Given the description of an element on the screen output the (x, y) to click on. 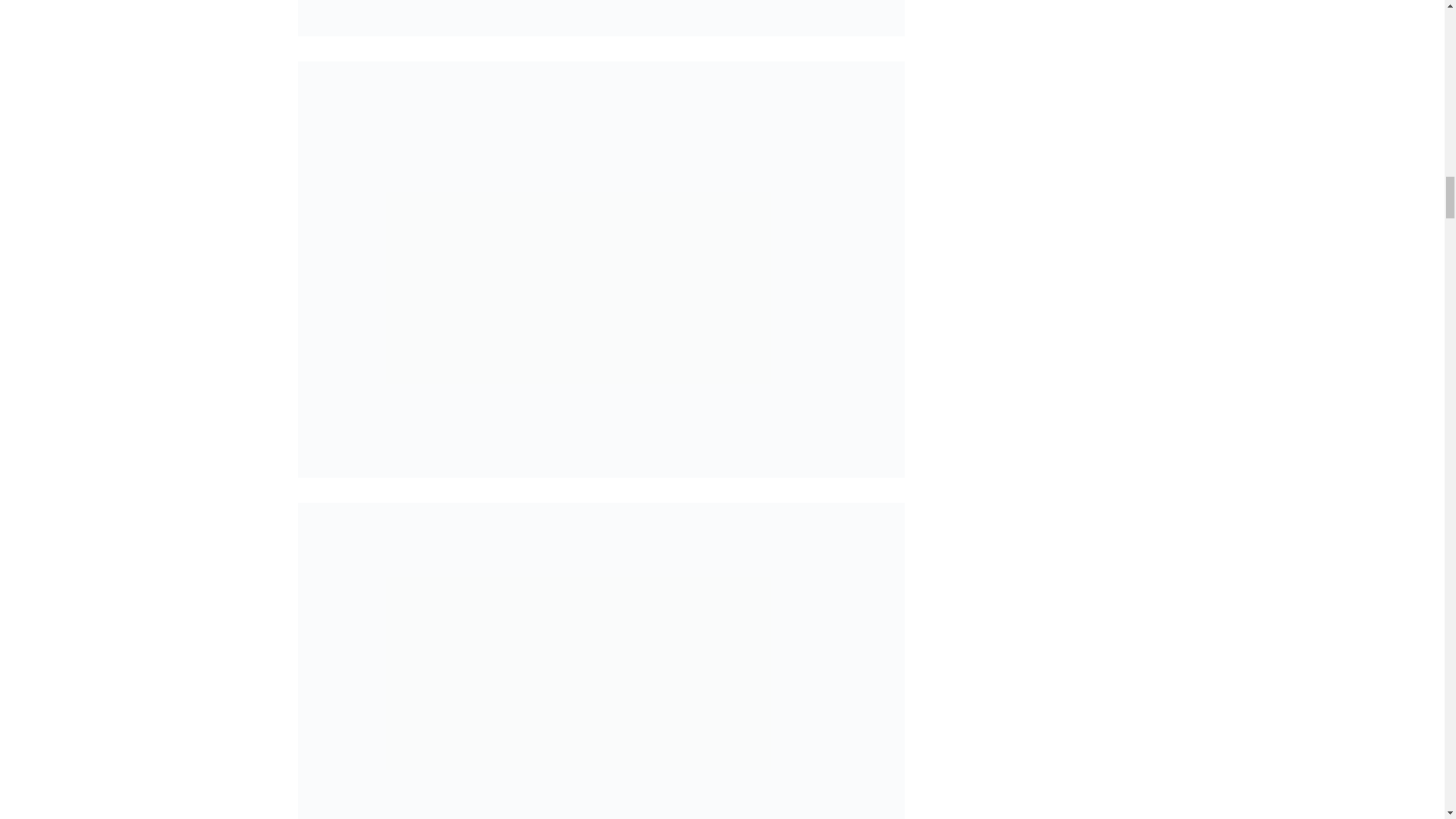
Wengenn a romantic dinner (600, 18)
